Given the description of an element on the screen output the (x, y) to click on. 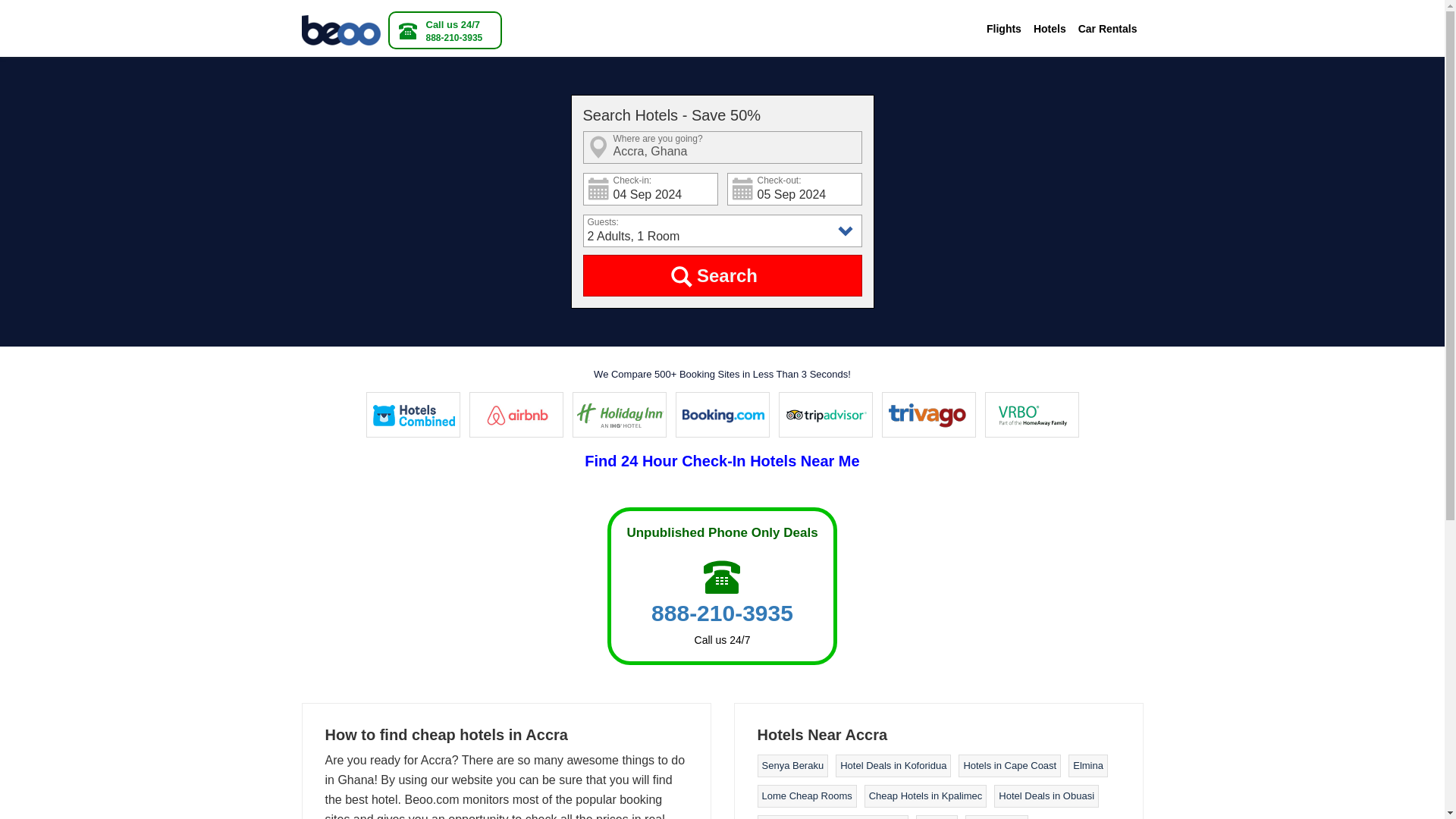
Lome Cheap Rooms (806, 795)
Hotels (1049, 28)
Hotel Deals in Obuasi (1046, 795)
Find 24 Hour Check-In Hotels Near Me (722, 460)
Hotel Deals in Koforidua (893, 765)
Elmina (1088, 765)
Car Rentals (1106, 28)
Senya Beraku (792, 765)
Hotels in Cape Coast (1009, 765)
Search (721, 275)
